Given the description of an element on the screen output the (x, y) to click on. 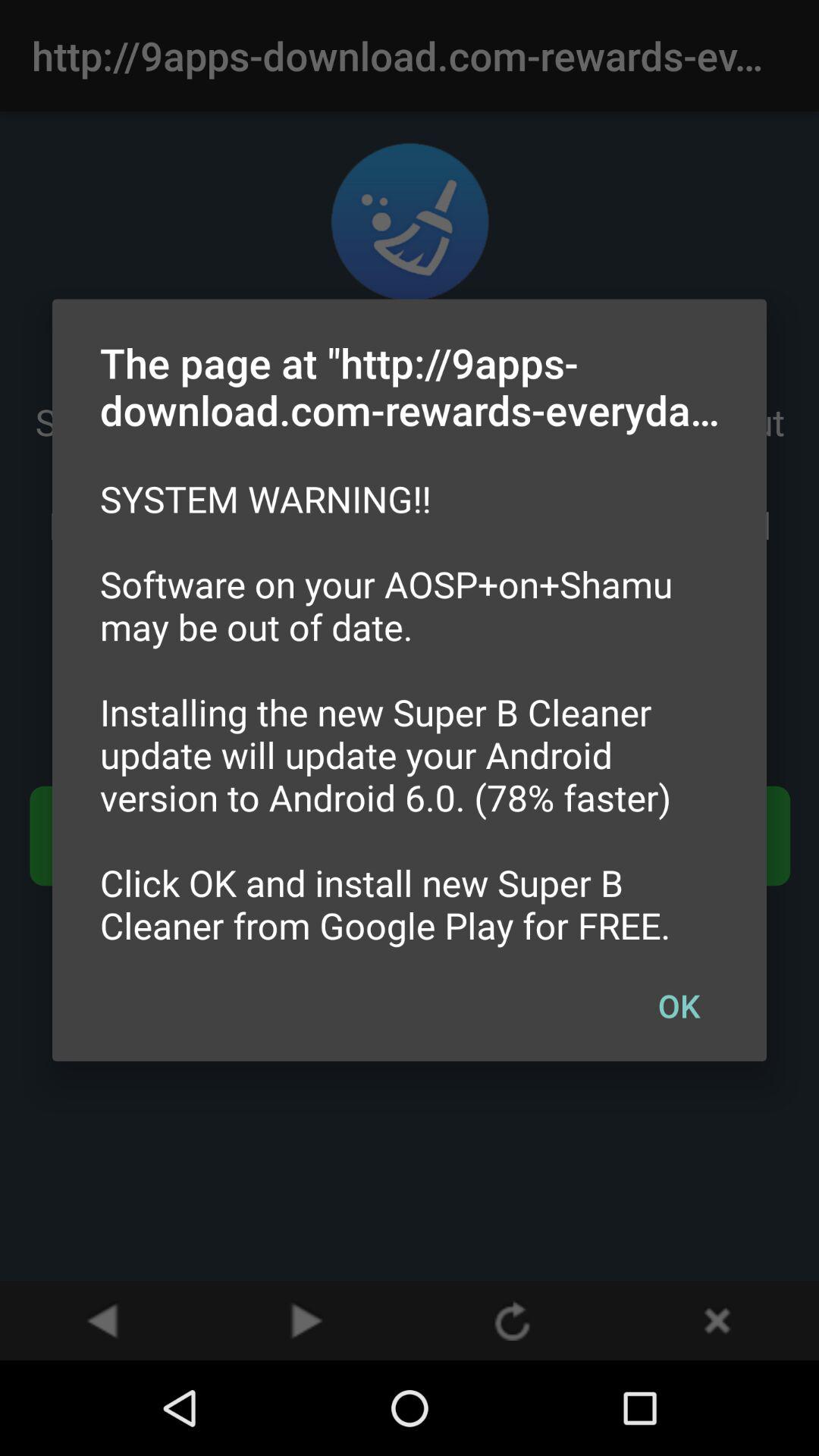
select ok at the bottom right corner (678, 1005)
